Given the description of an element on the screen output the (x, y) to click on. 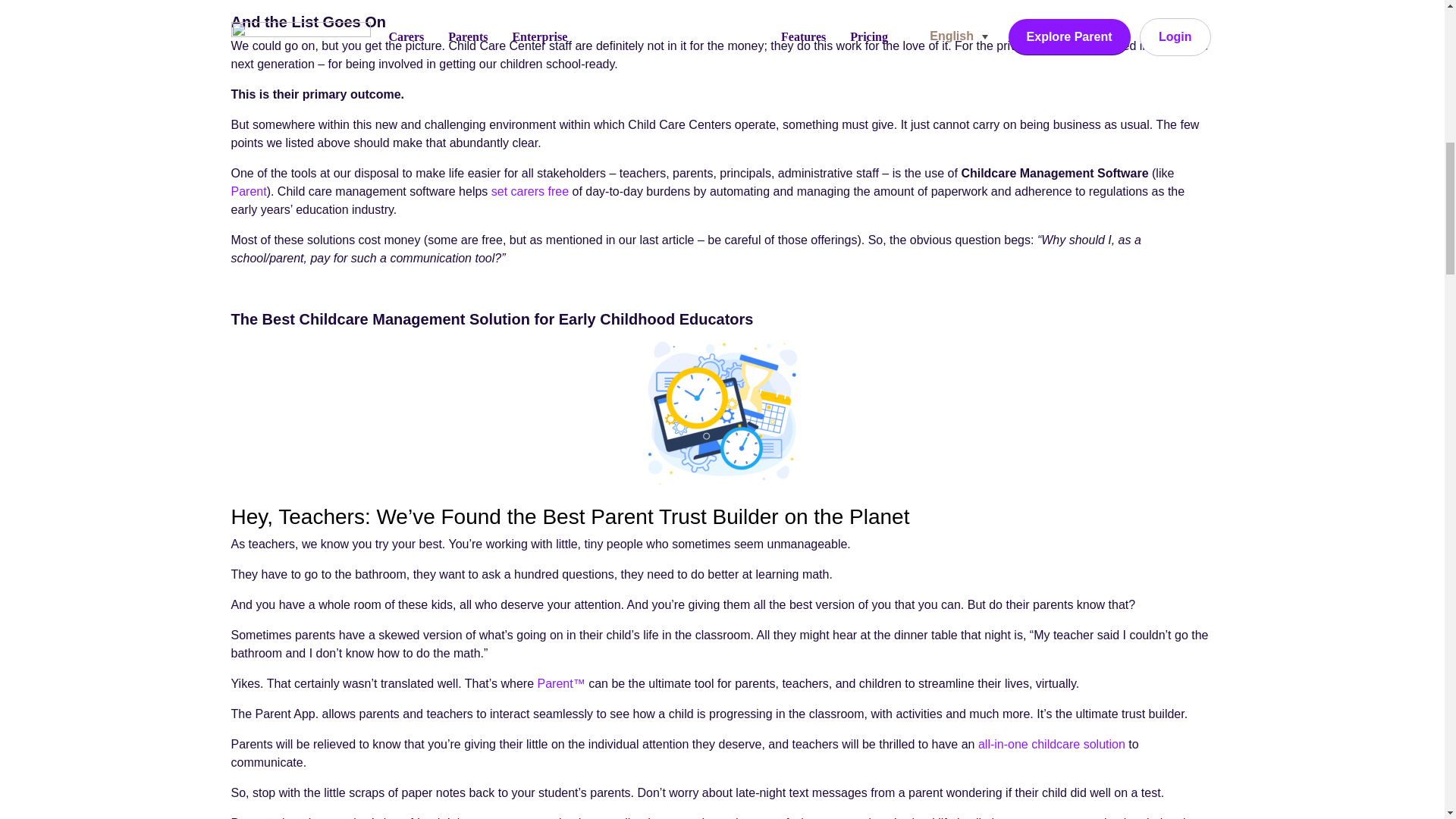
Parent (248, 191)
all-in-one childcare solution (1051, 744)
set carers free (530, 191)
